Given the description of an element on the screen output the (x, y) to click on. 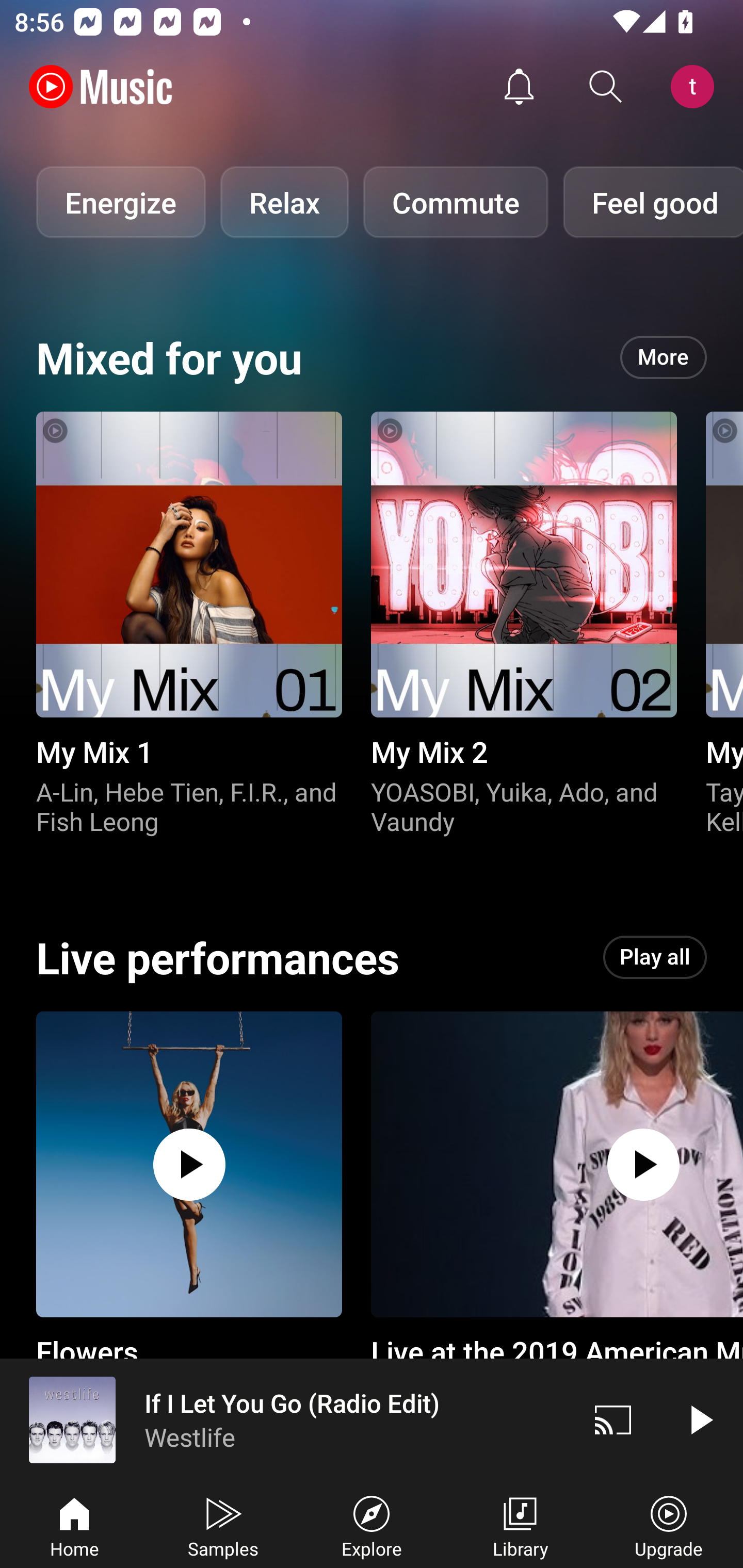
Activity feed (518, 86)
Search (605, 86)
Account (696, 86)
If I Let You Go (Radio Edit) Westlife (284, 1419)
Cast. Disconnected (612, 1419)
Play video (699, 1419)
Home (74, 1524)
Samples (222, 1524)
Explore (371, 1524)
Library (519, 1524)
Upgrade (668, 1524)
